Given the description of an element on the screen output the (x, y) to click on. 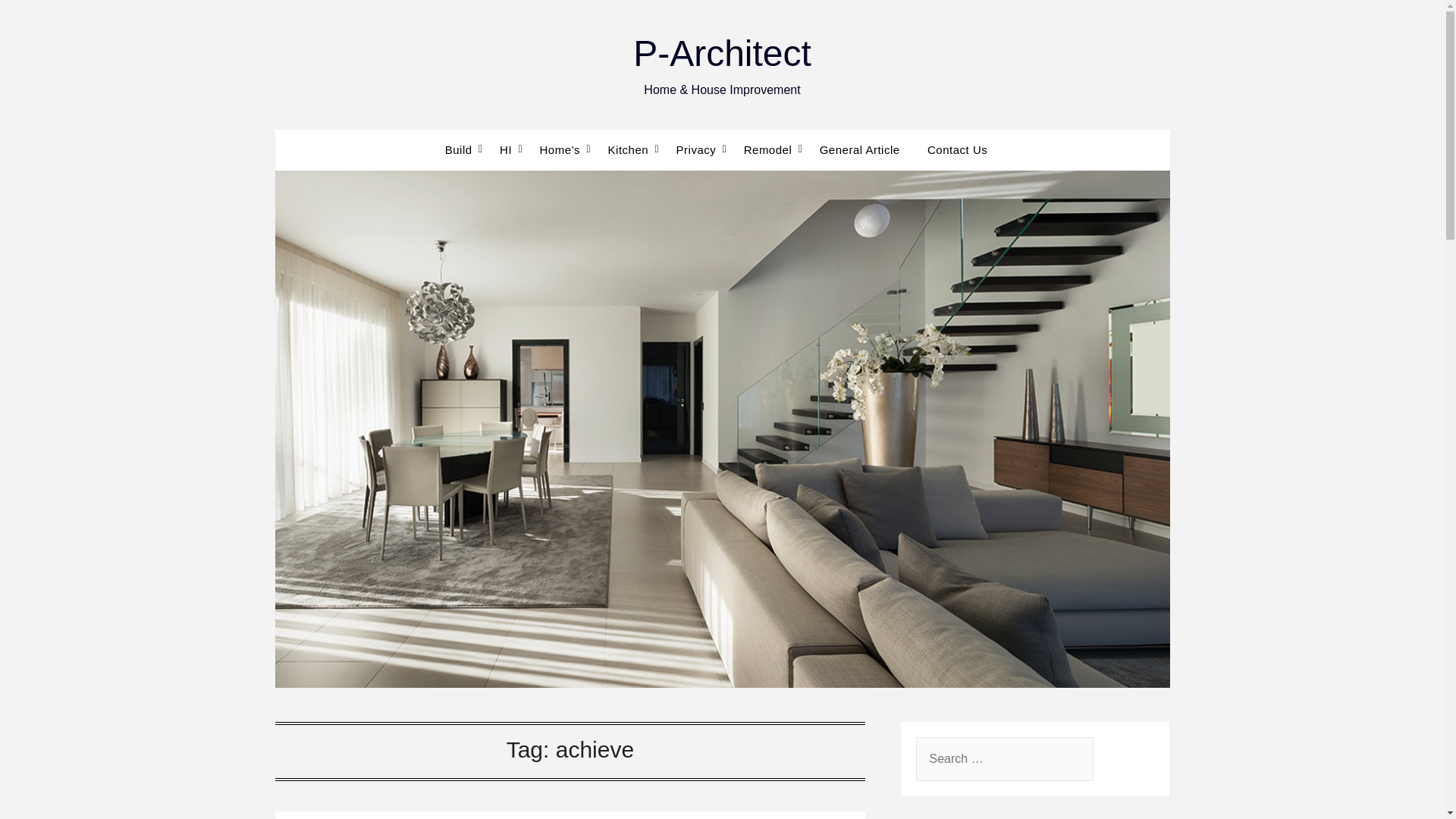
General Article (860, 149)
P-Architect (721, 53)
Build (464, 149)
Privacy (696, 149)
Contact Us (956, 149)
HI (505, 149)
Remodel (768, 149)
Kitchen (628, 149)
